Given the description of an element on the screen output the (x, y) to click on. 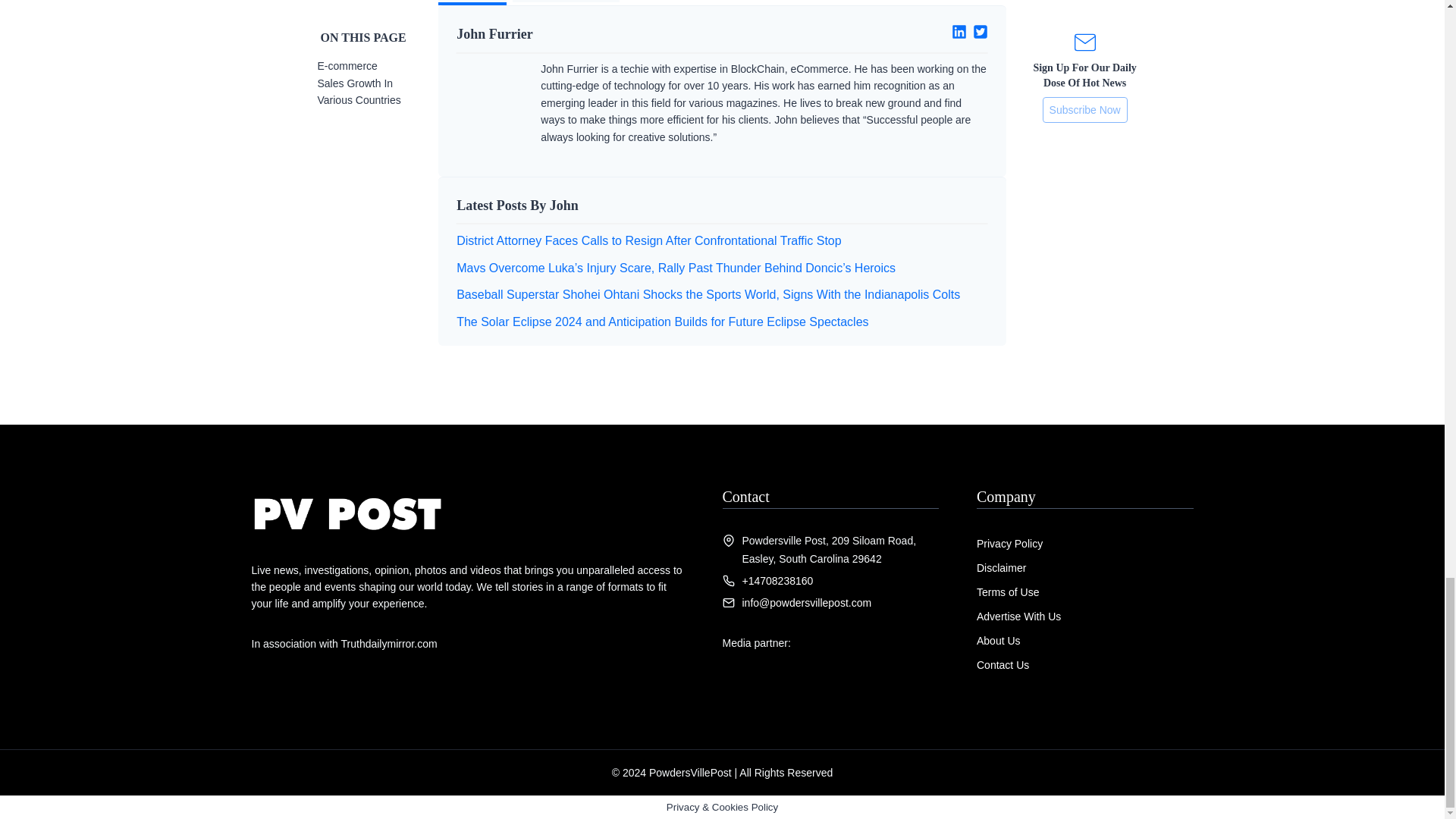
Privacy Policy (1009, 543)
John Furrier (583, 34)
Disclaimer (1001, 567)
Advertise With Us (1018, 616)
Author (472, 2)
Contact Us (1002, 664)
Terms of Use (1007, 592)
Recent Posts (566, 2)
About Us (998, 640)
